Given the description of an element on the screen output the (x, y) to click on. 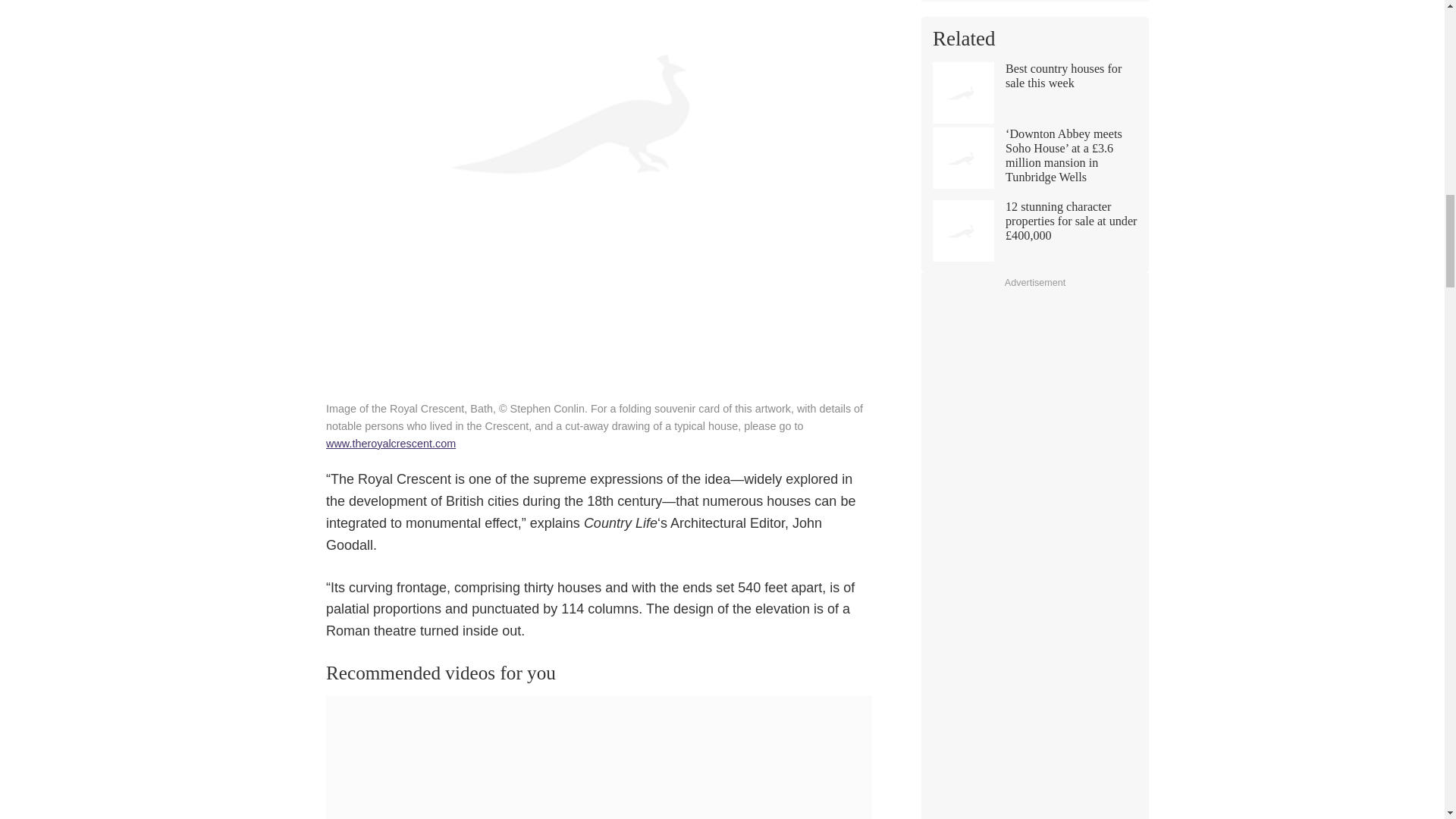
Best country houses for sale this week (1035, 92)
